Given the description of an element on the screen output the (x, y) to click on. 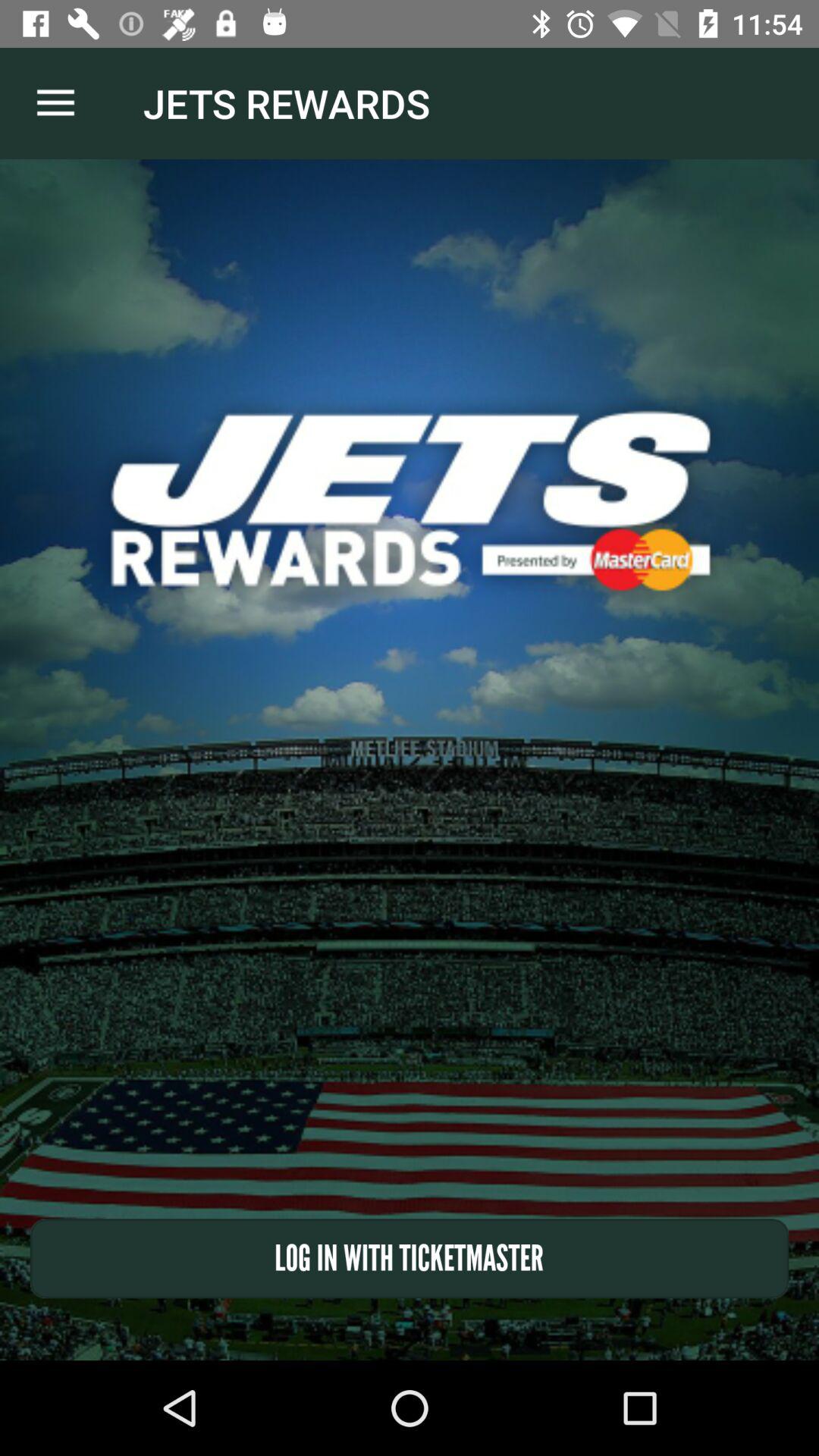
launch item at the top left corner (55, 103)
